Given the description of an element on the screen output the (x, y) to click on. 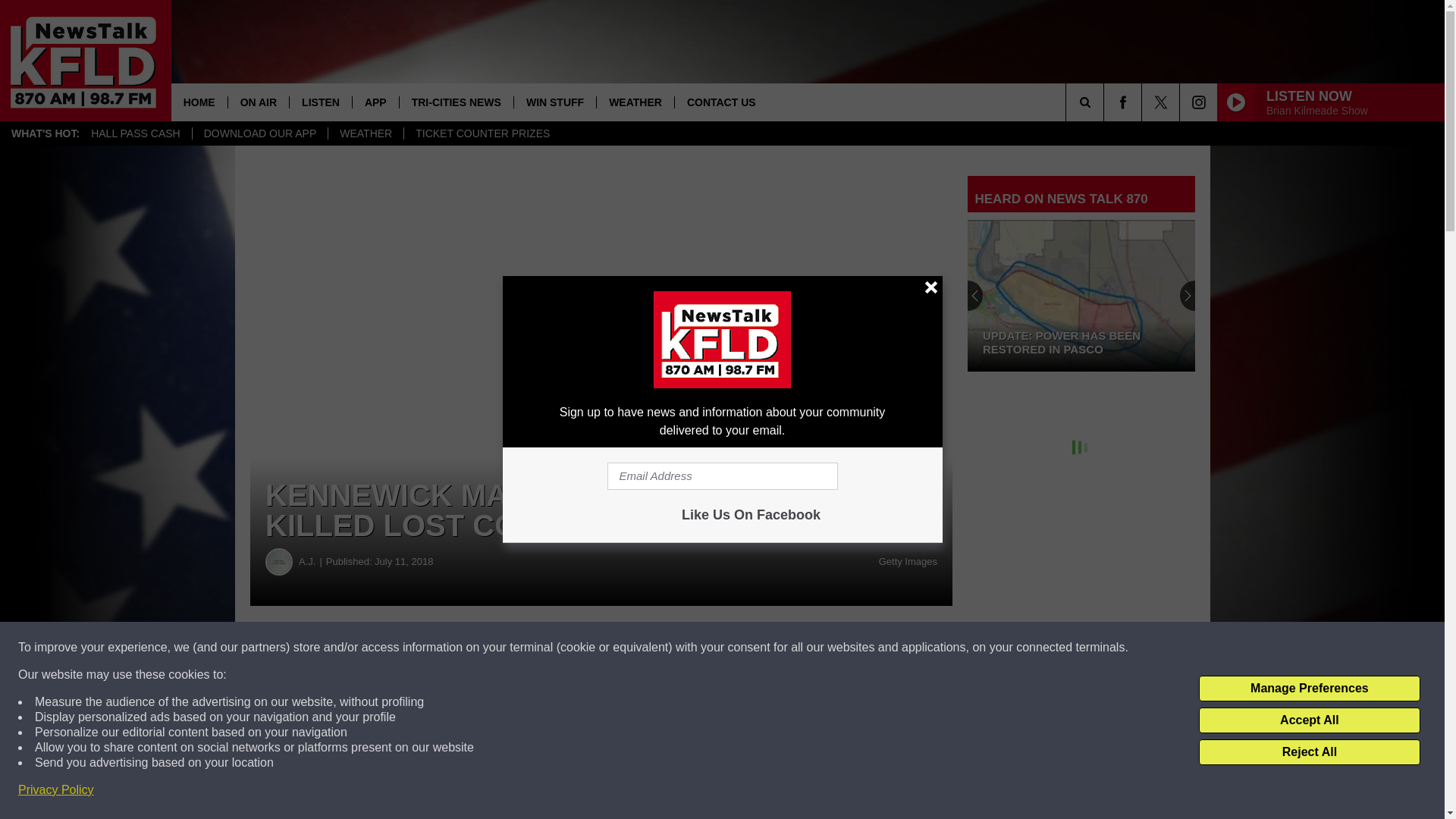
Accept All (1309, 720)
SEARCH (1106, 102)
ON AIR (257, 102)
WEATHER (634, 102)
TICKET COUNTER PRIZES (481, 133)
Privacy Policy (55, 789)
TRI-CITIES NEWS (455, 102)
SEARCH (1106, 102)
Email Address (722, 475)
Manage Preferences (1309, 688)
HALL PASS CASH (136, 133)
WEATHER (365, 133)
APP (375, 102)
LISTEN (320, 102)
Reject All (1309, 751)
